Given the description of an element on the screen output the (x, y) to click on. 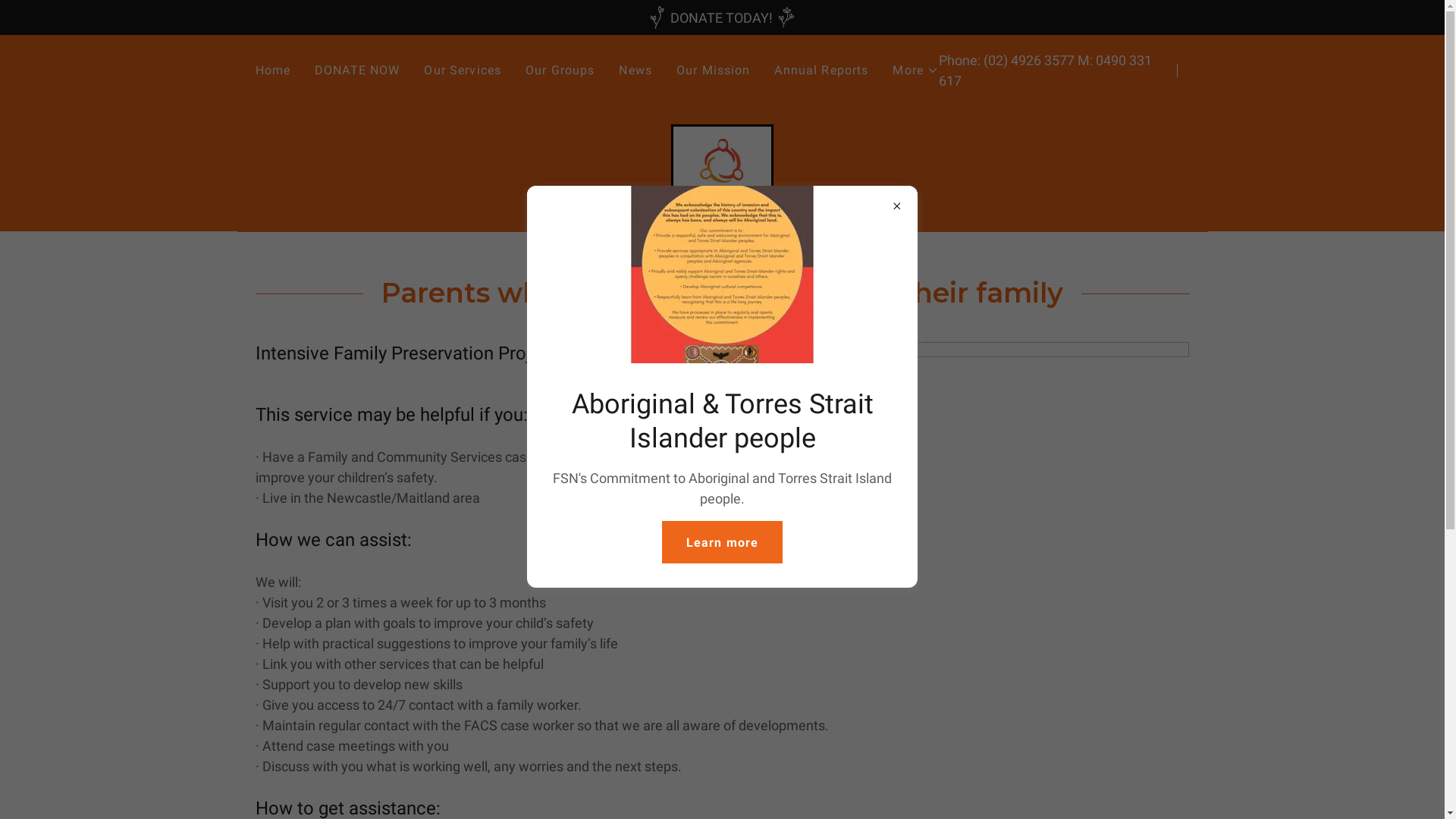
Annual Reports Element type: text (820, 70)
More Element type: text (915, 70)
Learn more Element type: text (722, 541)
Our Groups Element type: text (559, 70)
DONATE TODAY! Element type: text (722, 17)
News Element type: text (635, 70)
(02) 4926 3577 Element type: text (1028, 60)
DONATE NOW Element type: text (357, 70)
Home Element type: text (272, 70)
Our Services Element type: text (462, 70)
0490 331 617 Element type: text (1044, 70)
Family Support Newcastle Element type: hover (722, 167)
Our Mission Element type: text (713, 70)
